Given the description of an element on the screen output the (x, y) to click on. 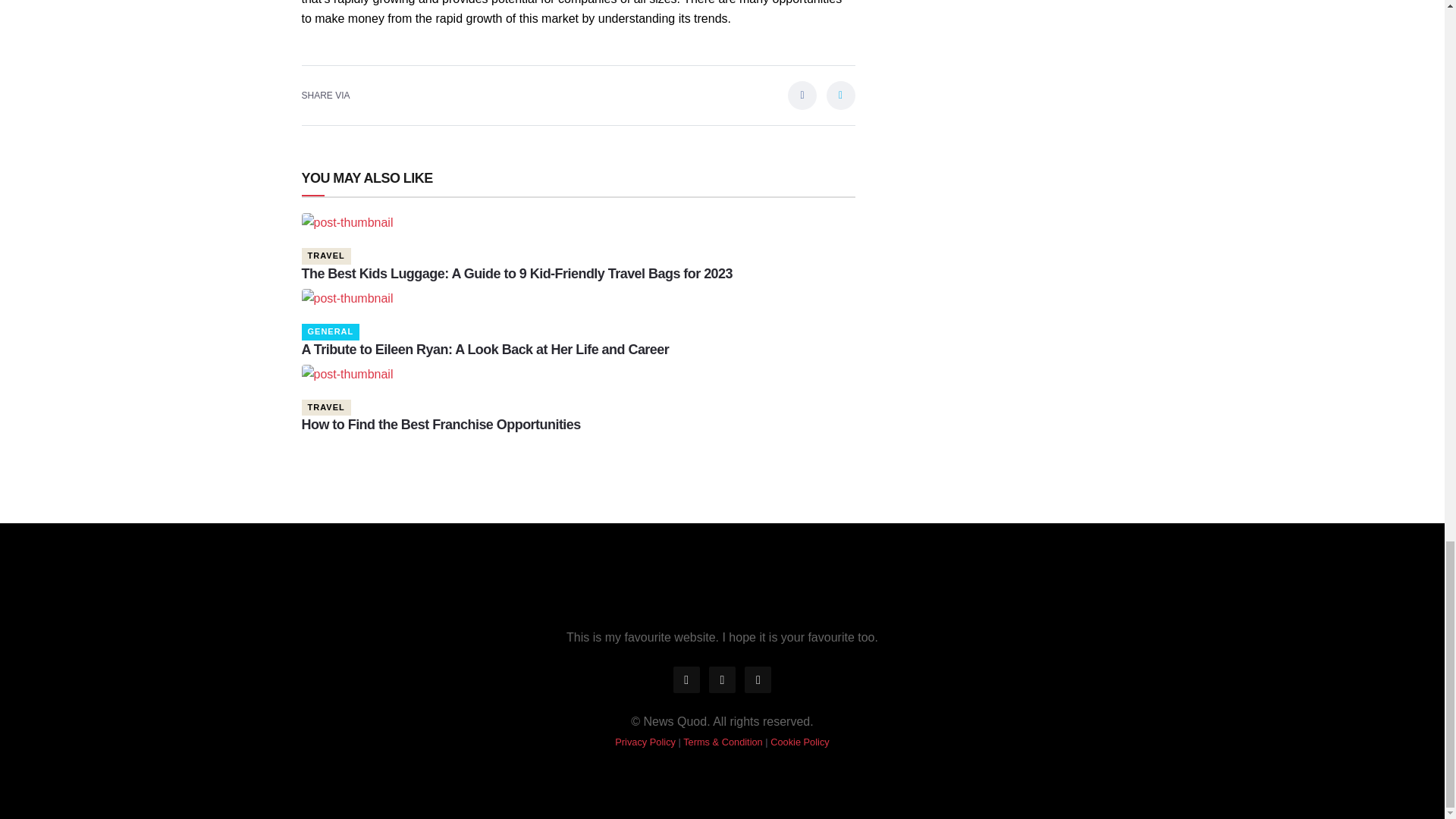
TRAVEL (325, 407)
GENERAL (330, 331)
How to Find the Best Franchise Opportunities (440, 424)
A Tribute to Eileen Ryan: A Look Back at Her Life and Career (485, 349)
TRAVEL (325, 255)
